Given the description of an element on the screen output the (x, y) to click on. 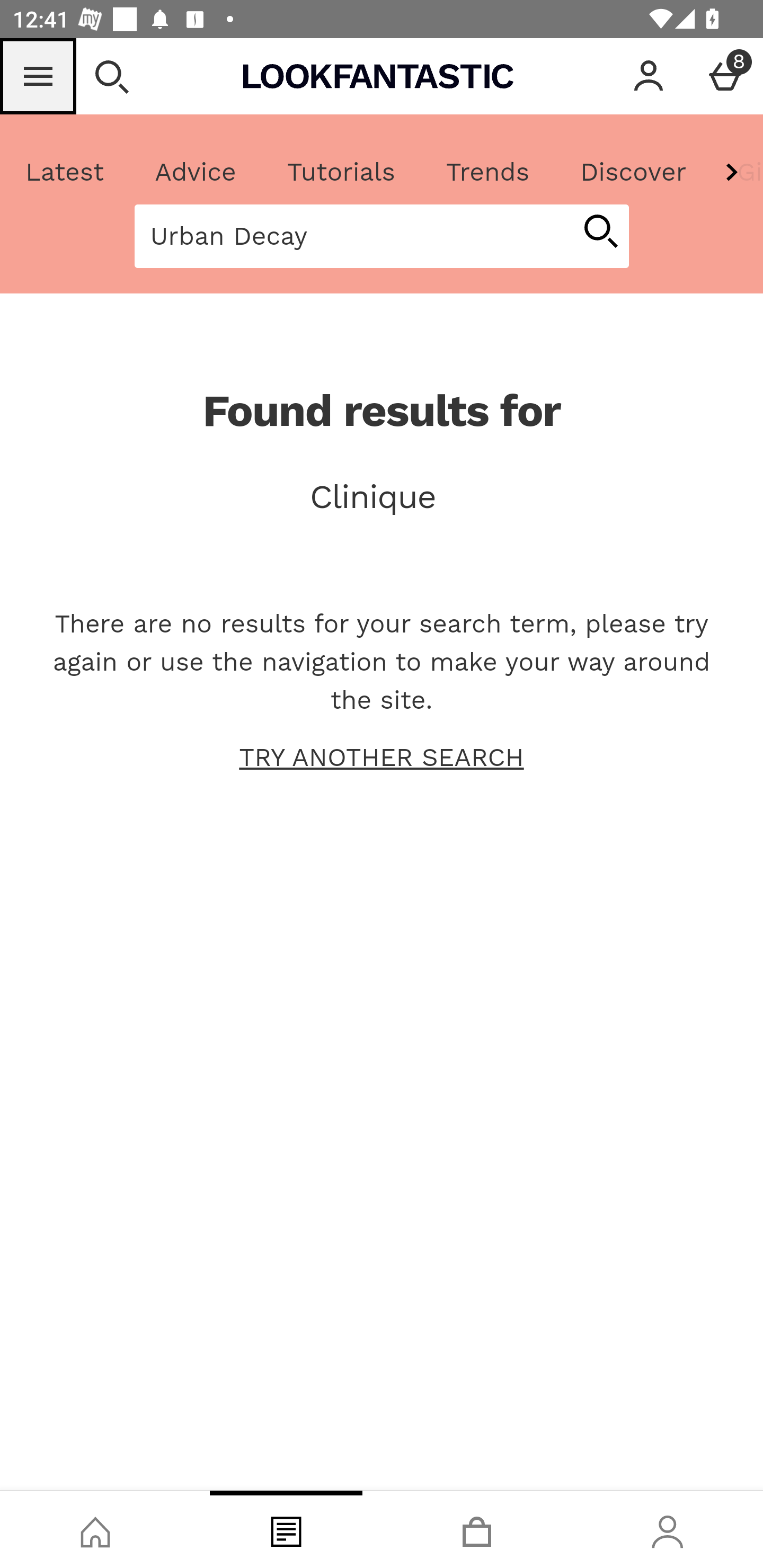
Open Menu (38, 75)
Open search (111, 75)
Account (648, 75)
Basket Menu (724, 75)
Latest (65, 172)
Advice (195, 172)
Tutorials (340, 172)
Trends (486, 172)
Discover (632, 172)
Gift Guide (736, 172)
Urban Decay (352, 235)
start article search (599, 232)
Clinique (381, 496)
TRY ANOTHER SEARCH (381, 757)
Shop, tab, 1 of 4 (95, 1529)
Blog, tab, 2 of 4 (285, 1529)
Basket, tab, 3 of 4 (476, 1529)
Account, tab, 4 of 4 (667, 1529)
